Given the description of an element on the screen output the (x, y) to click on. 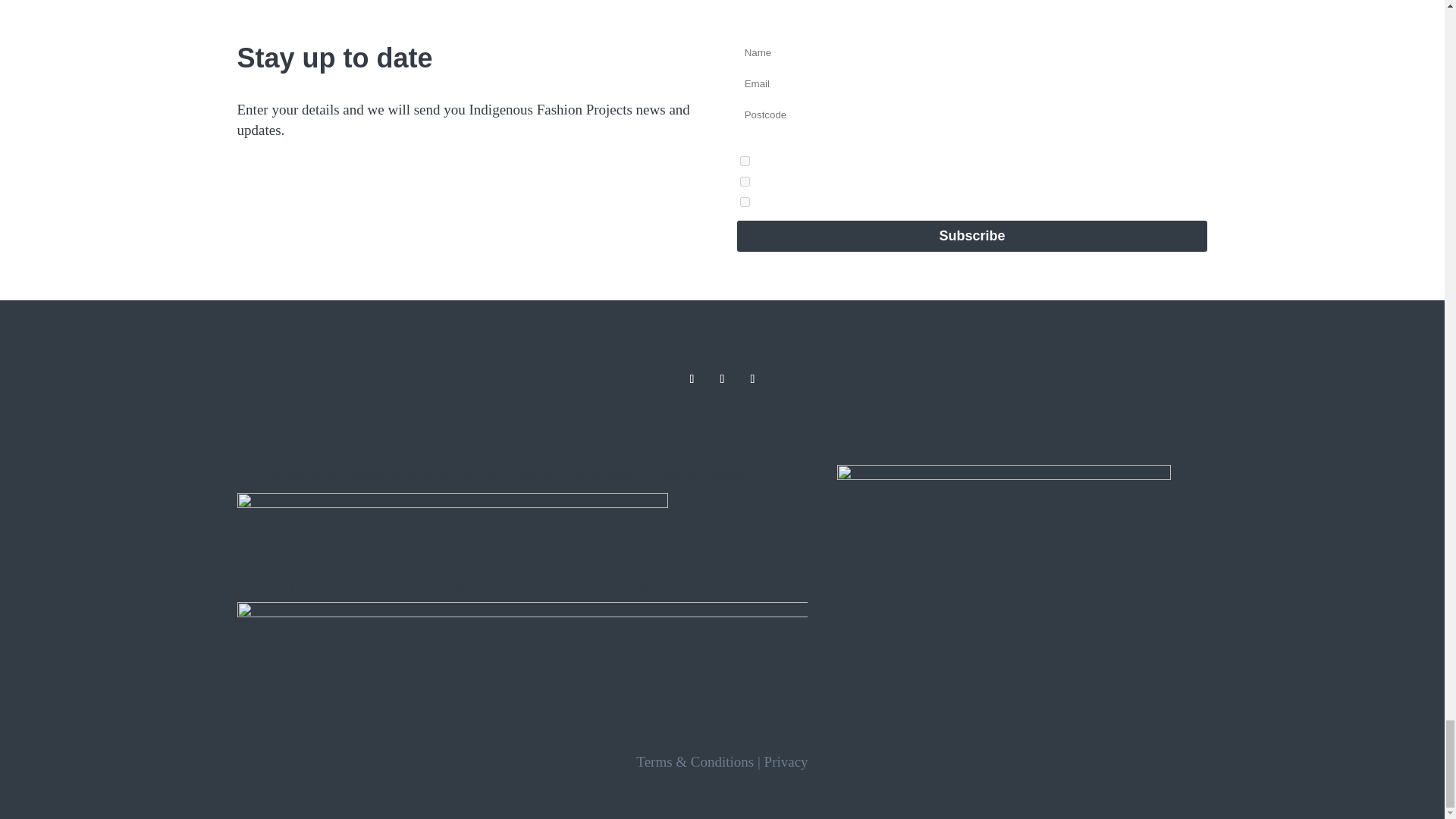
bukmih (744, 202)
bukmjr (744, 181)
blhjrhr (744, 161)
